Given the description of an element on the screen output the (x, y) to click on. 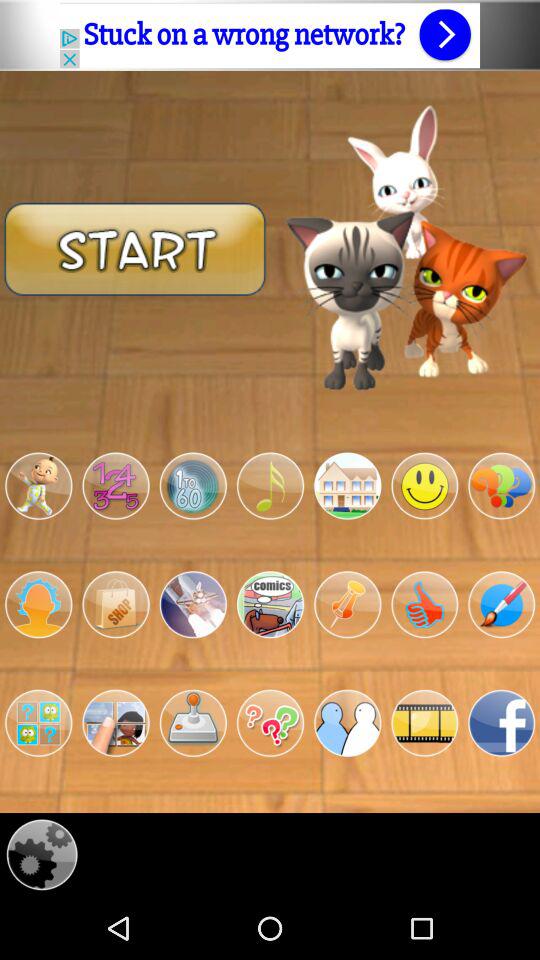
button to go to game within app (347, 485)
